Given the description of an element on the screen output the (x, y) to click on. 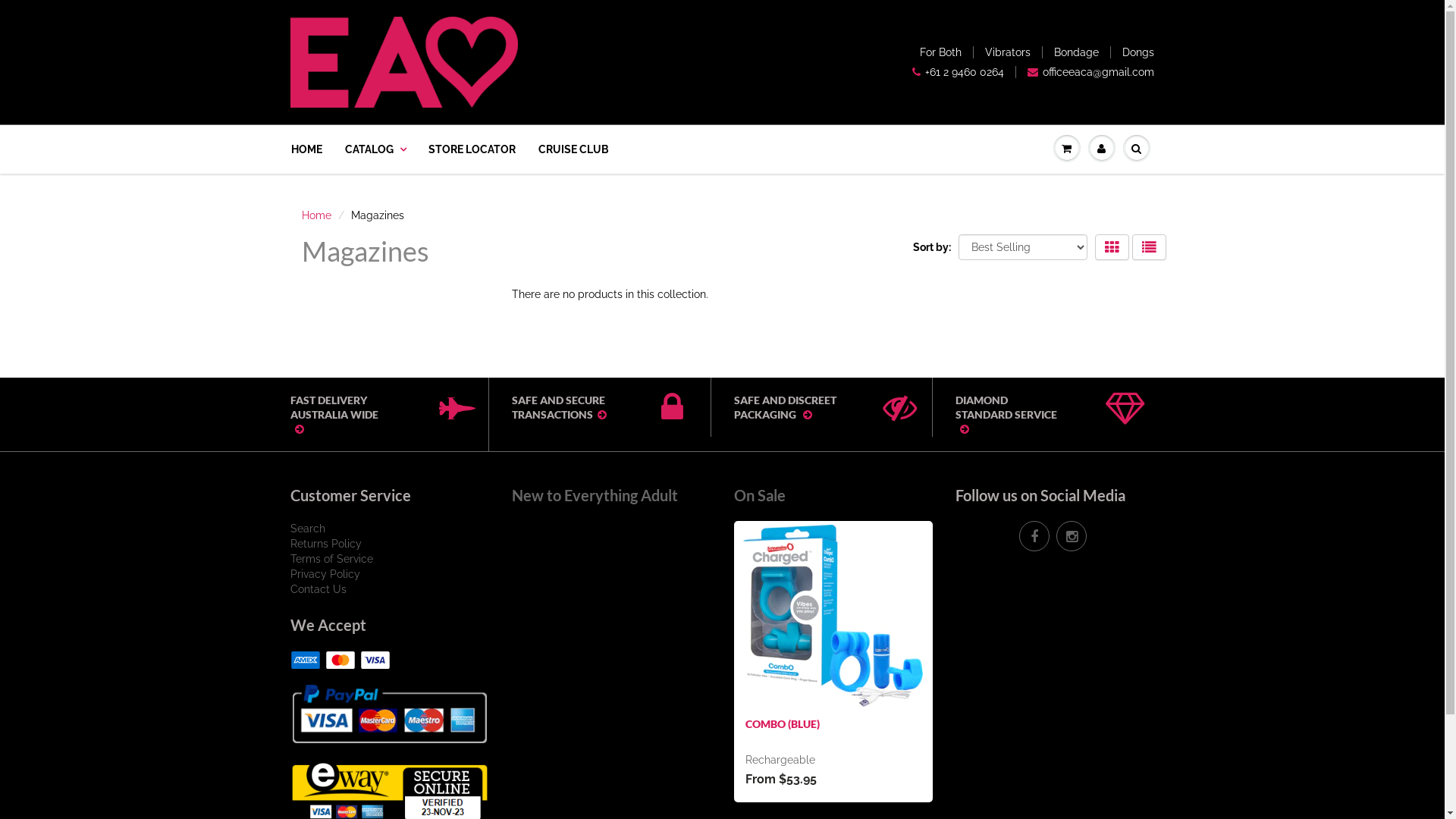
Facebook Element type: hover (1034, 535)
List View Element type: hover (1148, 247)
Dongs Element type: text (1138, 52)
DIAMOND STANDARD SERVICE Element type: text (1032, 414)
HOME Element type: text (312, 148)
STORE LOCATOR Element type: text (472, 148)
FAST DELIVERY AUSTRALIA WIDE Element type: text (365, 414)
COMBO (BLUE) Element type: text (781, 723)
New to Everything Adult Element type: text (594, 495)
CRUISE CLUB Element type: text (572, 148)
SAFE AND SECURE TRANSACTIONS Element type: text (588, 406)
SAFE AND DISCREET PACKAGING Element type: text (810, 406)
Home Element type: text (316, 215)
Grid view Element type: hover (1112, 247)
CATALOG Element type: text (375, 148)
Vibrators Element type: text (1007, 52)
+61 2 9460 0264 Element type: text (958, 71)
officeeaca@gmail.com Element type: text (1090, 71)
Returns Policy Element type: text (324, 543)
Privacy Policy Element type: text (324, 573)
Bondage Element type: text (1076, 52)
Search Element type: text (306, 528)
Contact Us Element type: text (317, 589)
Terms of Service Element type: text (330, 558)
For Both Element type: text (940, 52)
eWAY Payment Gateway Element type: hover (389, 790)
On Sale Element type: text (759, 495)
Instagram Element type: hover (1071, 535)
